Given the description of an element on the screen output the (x, y) to click on. 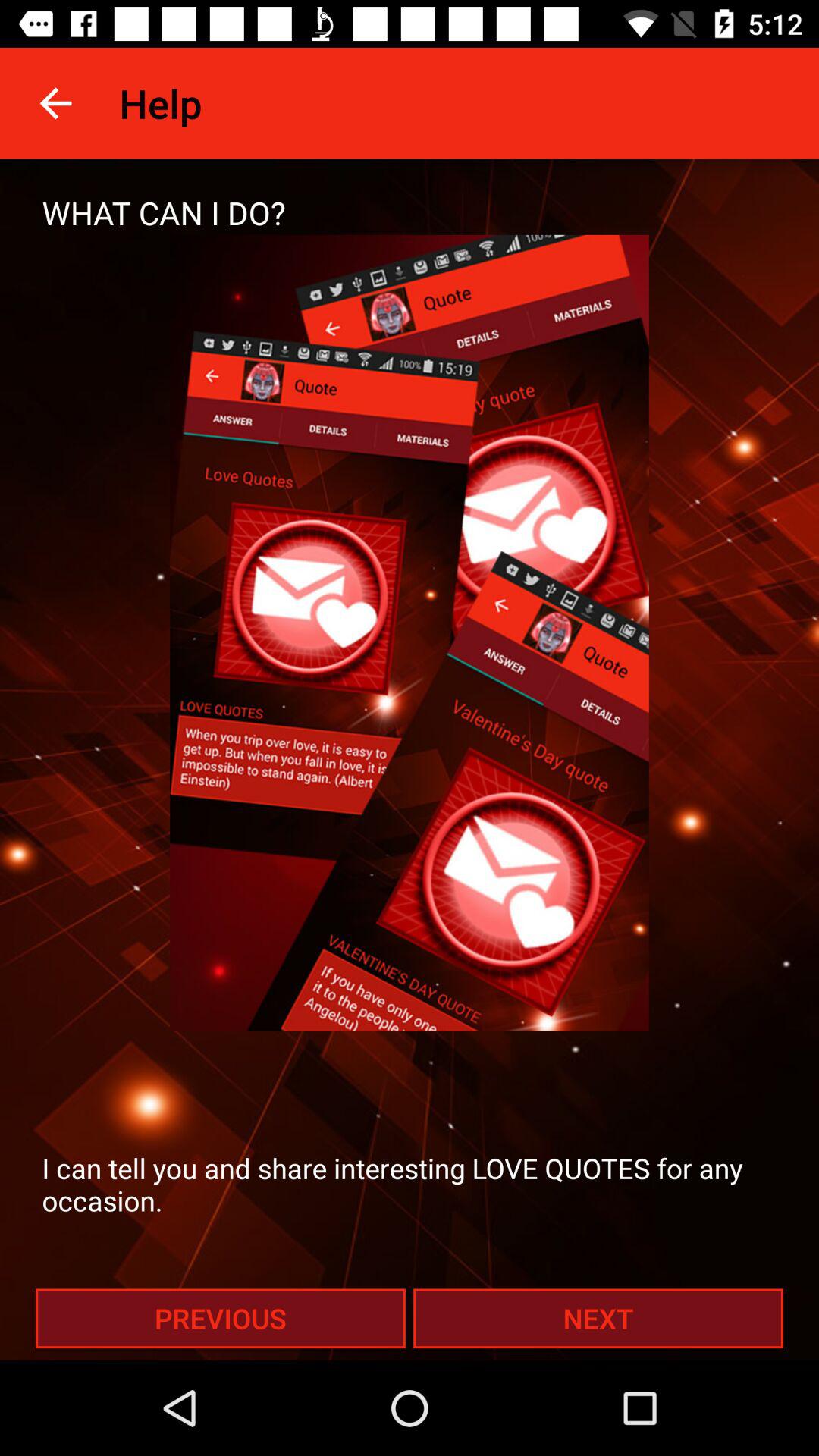
turn off the item below the i can tell (220, 1318)
